Given the description of an element on the screen output the (x, y) to click on. 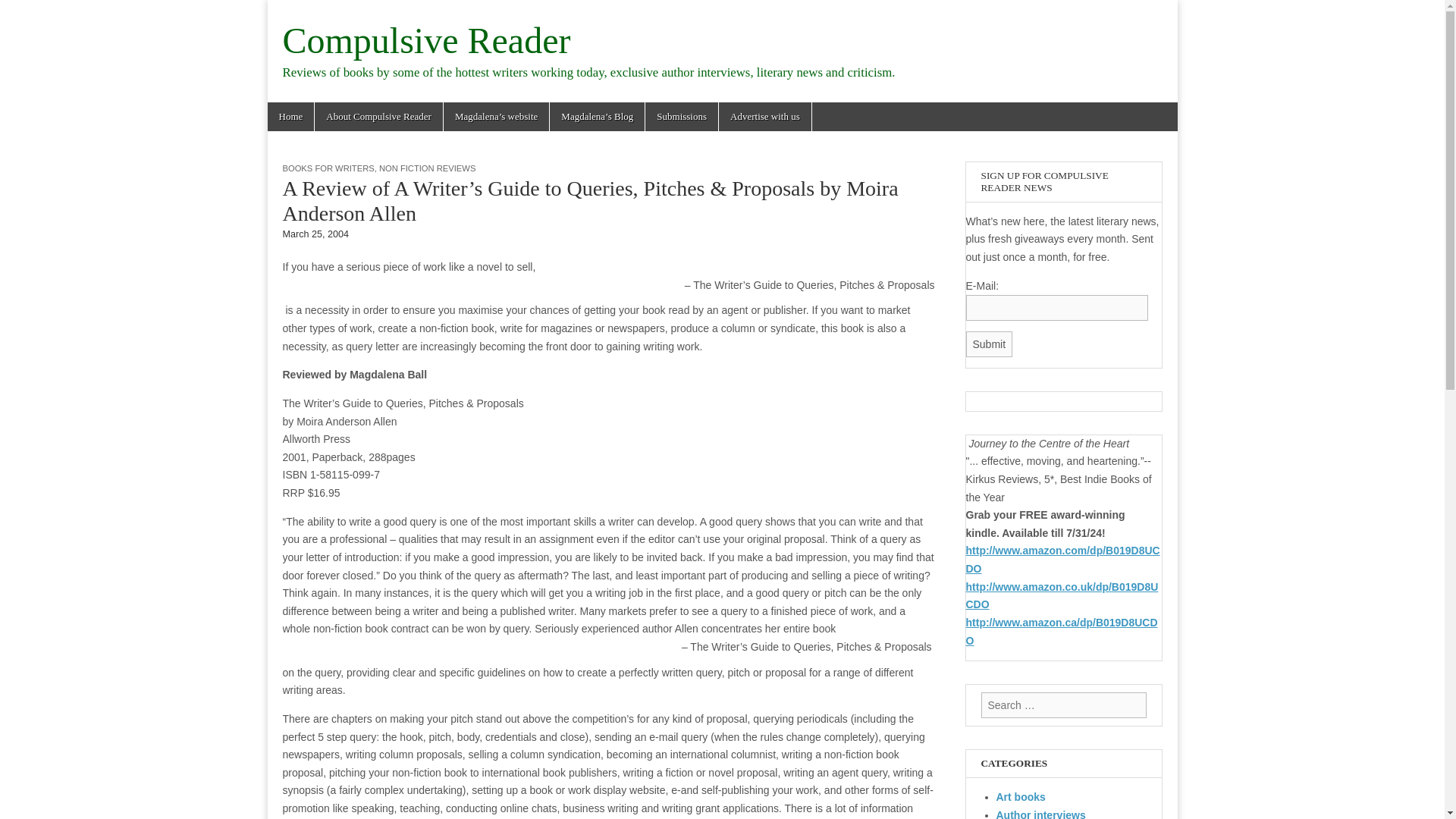
Submit (989, 344)
Search (23, 12)
Compulsive Reader (426, 40)
Compulsive Reader (426, 40)
BOOKS FOR WRITERS (328, 167)
Advertise with us (764, 116)
Home (290, 116)
About Compulsive Reader (378, 116)
Author interviews (1040, 814)
Art books (1020, 797)
Submissions (681, 116)
NON FICTION REVIEWS (427, 167)
Submit (989, 344)
